Given the description of an element on the screen output the (x, y) to click on. 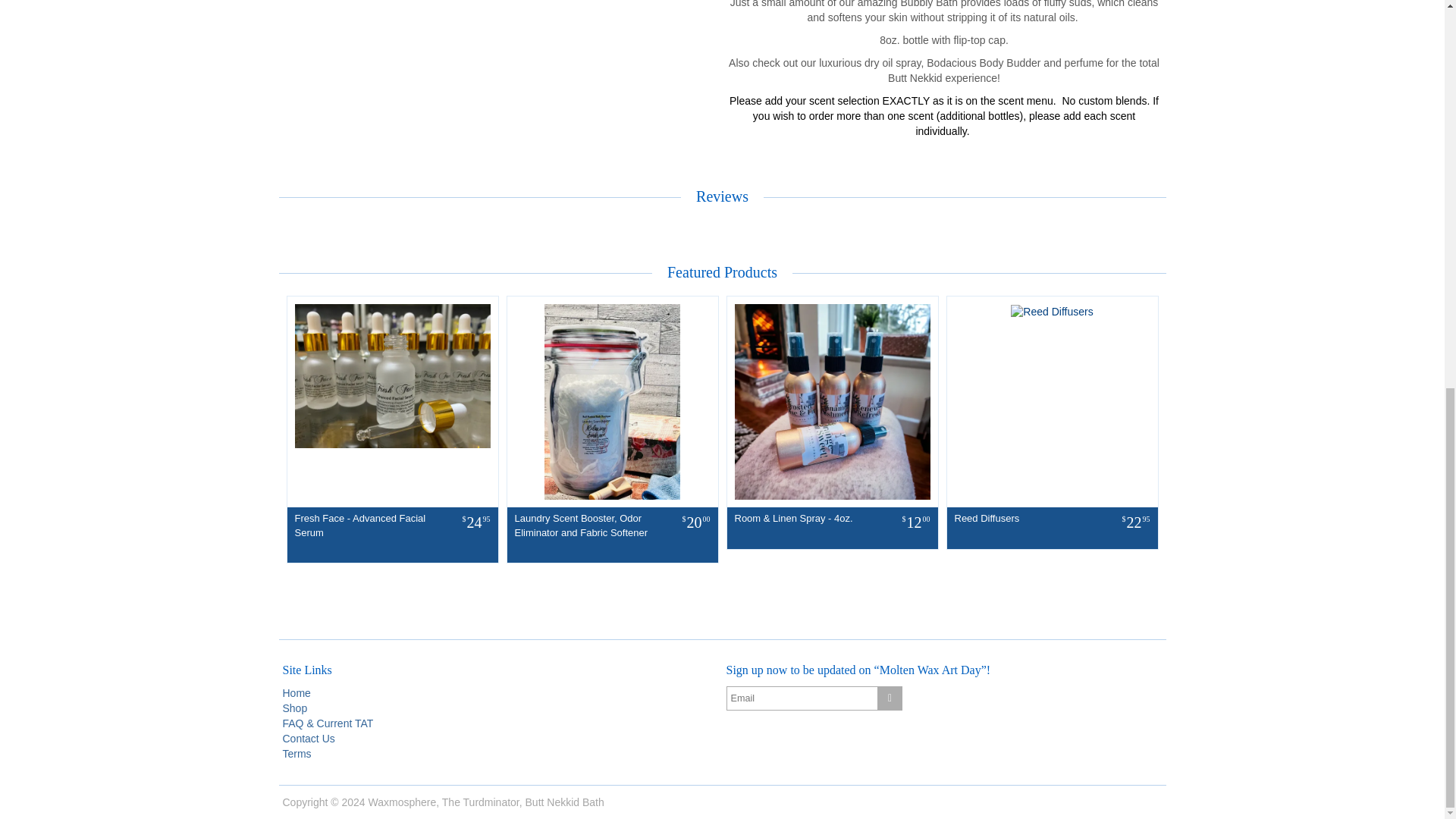
Shop (294, 707)
Terms (296, 753)
Contact Us (308, 738)
Home (296, 693)
